Given the description of an element on the screen output the (x, y) to click on. 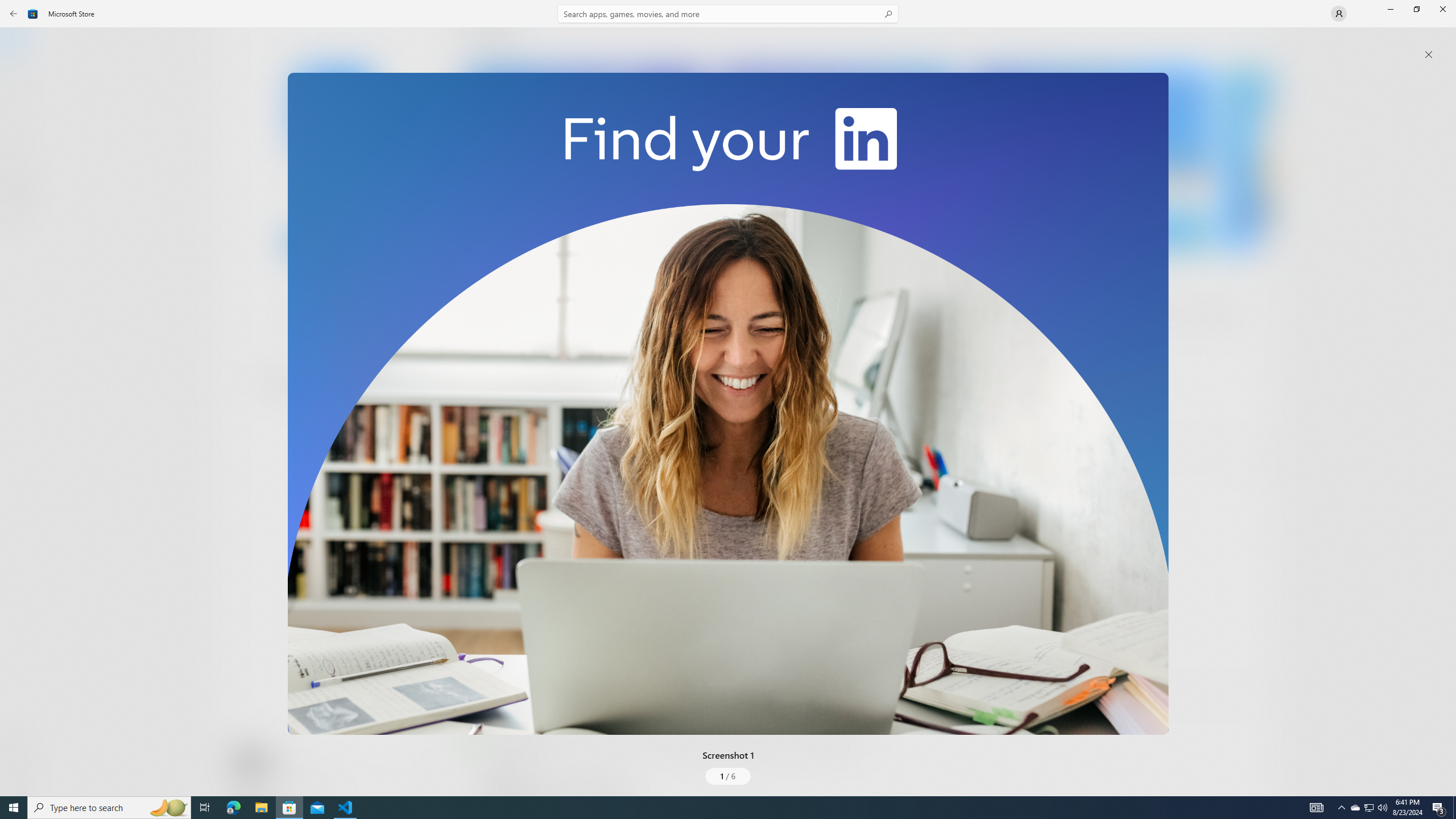
LinkedIn (332, 189)
Show all ratings and reviews (1253, 465)
Restore Microsoft Store (1416, 9)
Apps (20, 80)
Close Microsoft Store (1442, 9)
Screenshot 3 (1089, 158)
Library (20, 773)
Show more (485, 426)
Home (20, 45)
Share (424, 769)
Gaming (20, 115)
3.9 stars. Click to skip to ratings and reviews (307, 315)
Age rating: TEEN. Click for more information. (276, 762)
AutomationID: NavigationControl (728, 398)
Search (727, 13)
